Given the description of an element on the screen output the (x, y) to click on. 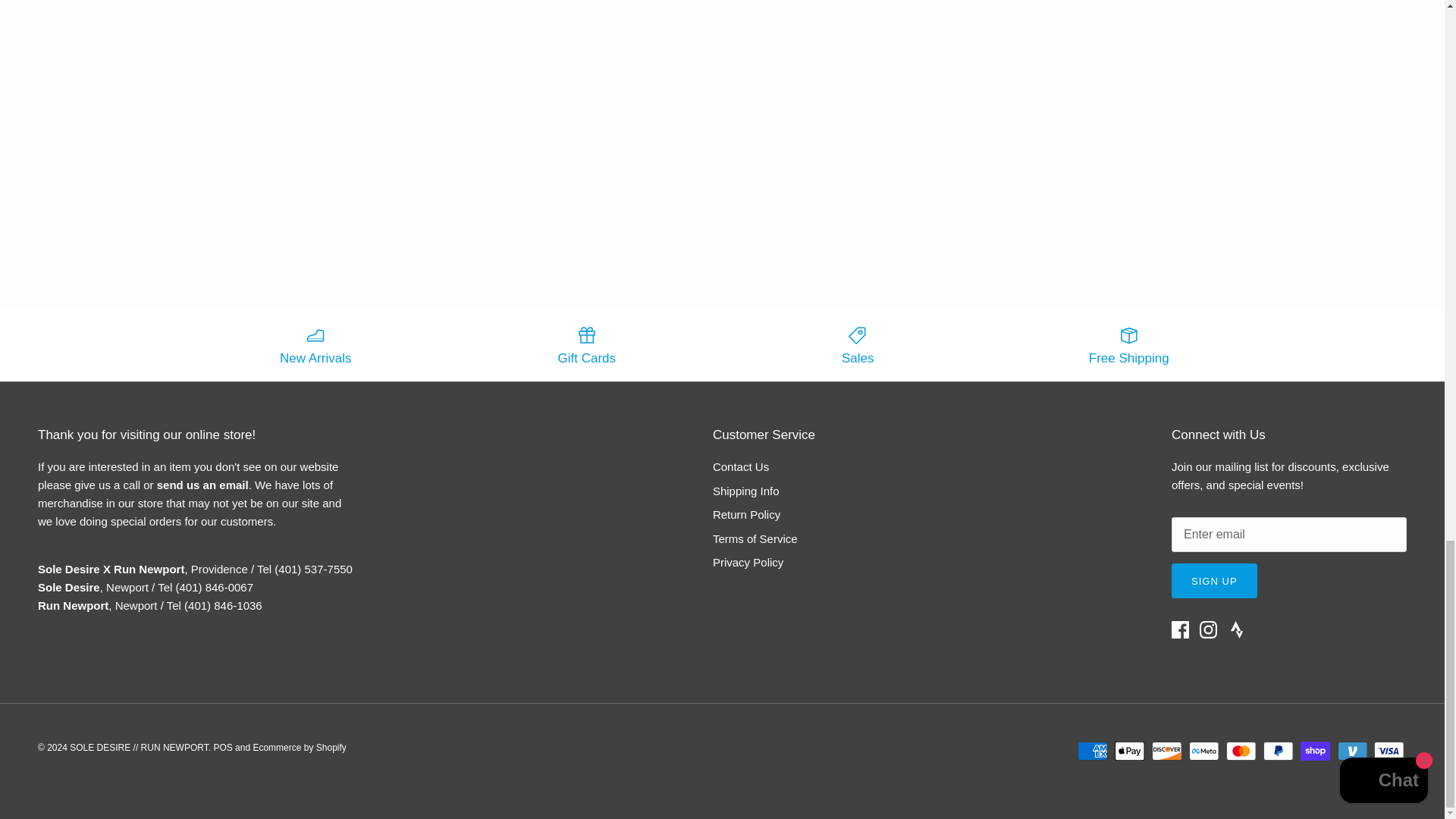
Venmo (1352, 751)
Shop Pay (1315, 751)
Mastercard (1240, 751)
Contact (202, 484)
Facebook (1180, 629)
American Express (1092, 751)
Visa (1388, 751)
Meta Pay (1203, 751)
PayPal (1277, 751)
Discover (1166, 751)
Apple Pay (1129, 751)
Instagram (1208, 629)
